Given the description of an element on the screen output the (x, y) to click on. 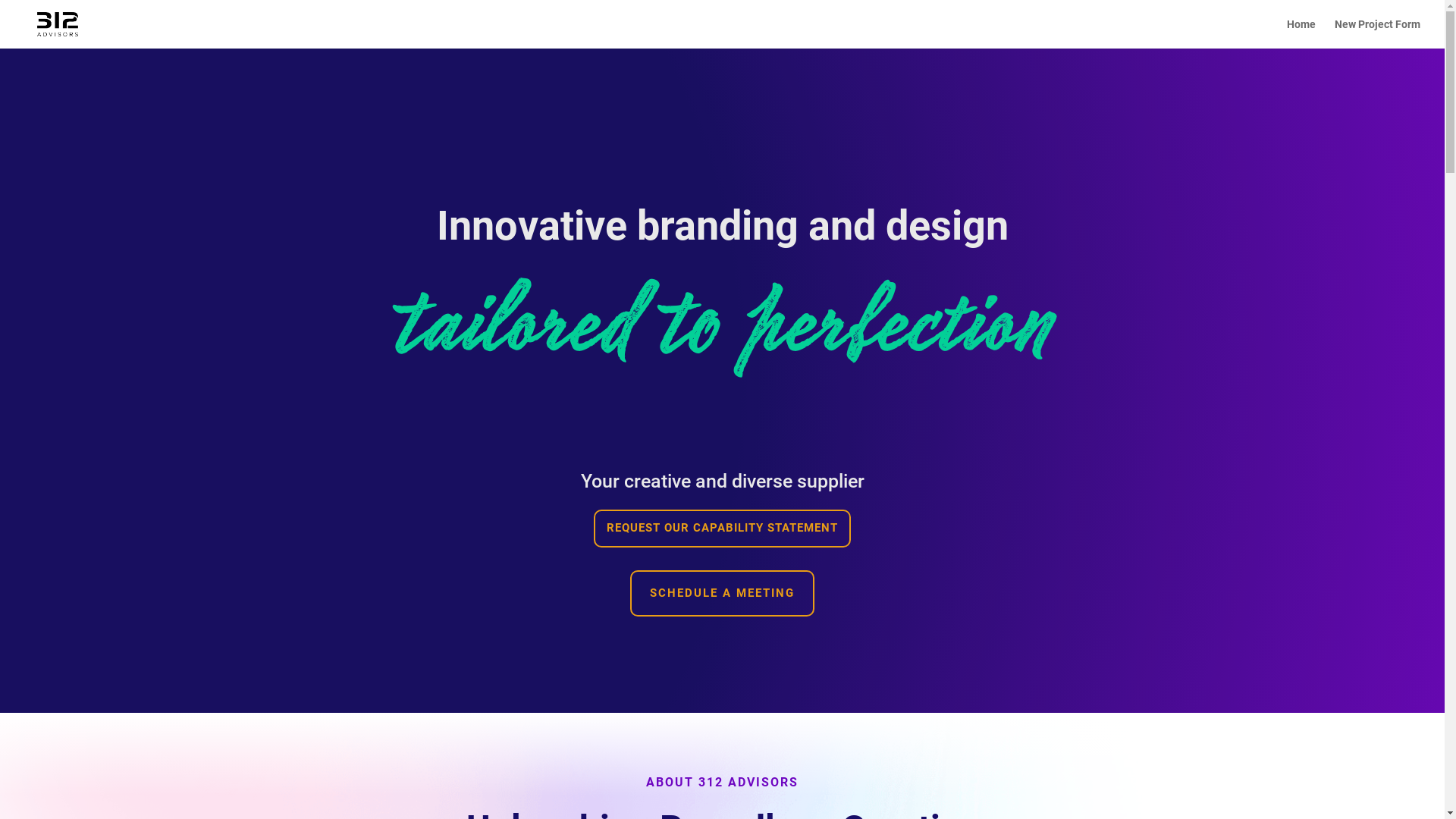
New Project Form Element type: text (1377, 33)
REQUEST OUR CAPABILITY STATEMENT Element type: text (721, 528)
Home Element type: text (1300, 33)
SCHEDULE A MEETING Element type: text (722, 593)
